Given the description of an element on the screen output the (x, y) to click on. 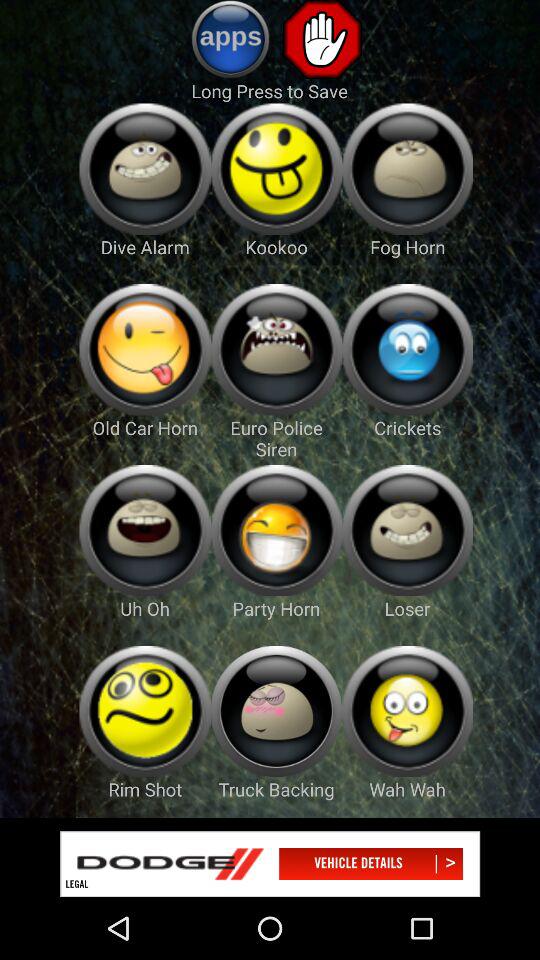
remove advertisements (322, 39)
